Given the description of an element on the screen output the (x, y) to click on. 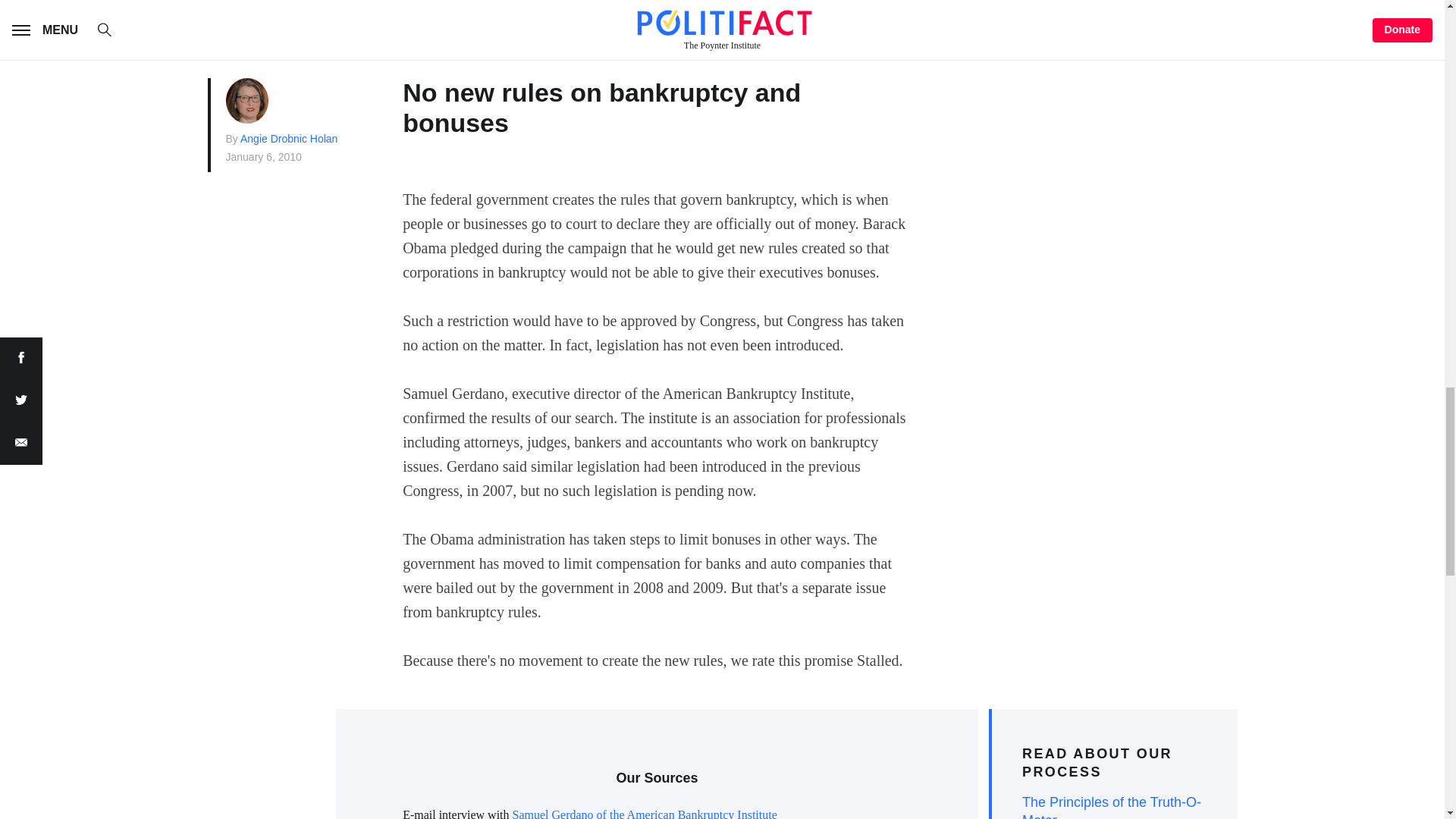
Samuel Gerdano of the American Bankruptcy Institute (644, 813)
